Given the description of an element on the screen output the (x, y) to click on. 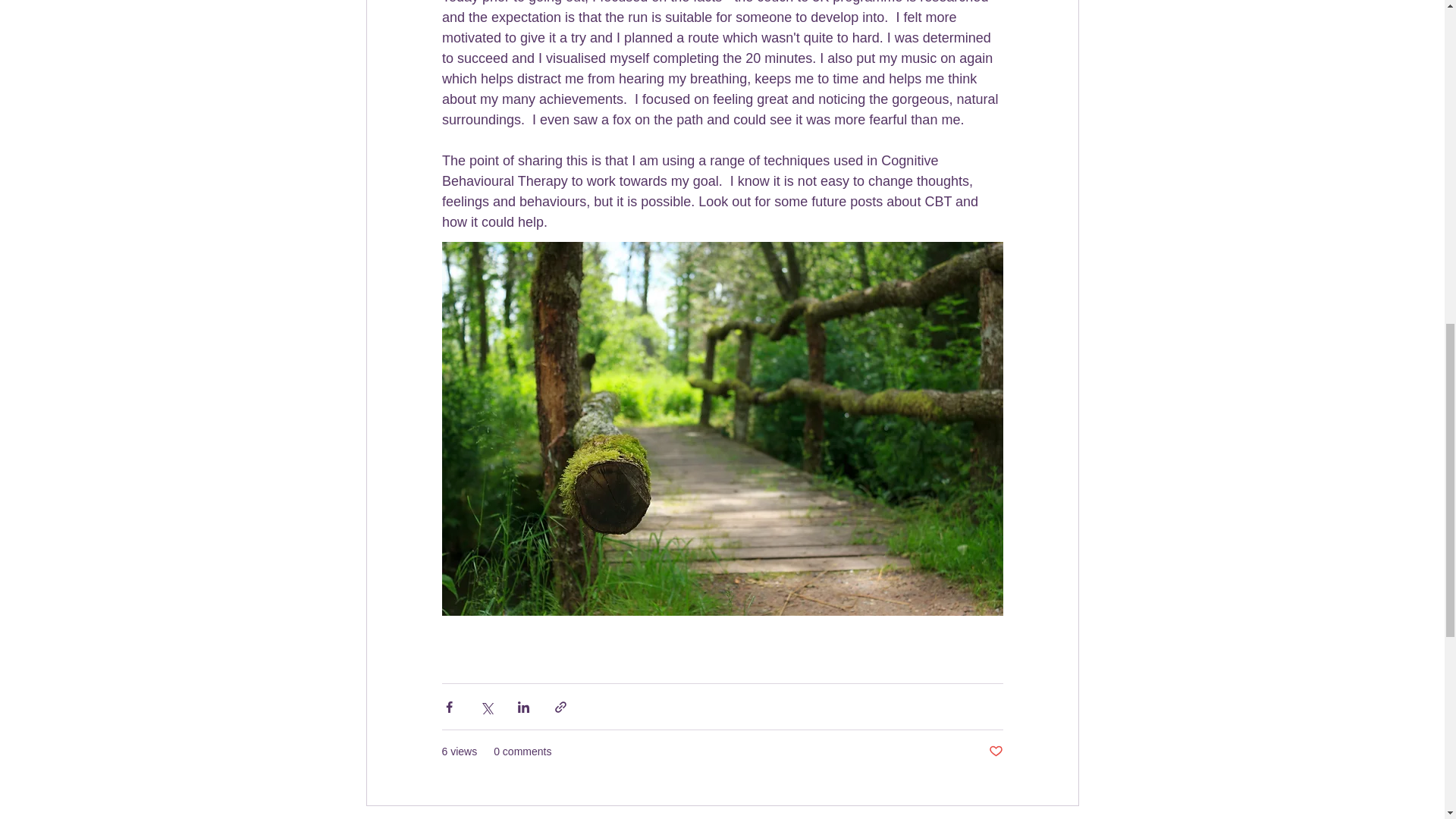
Post not marked as liked (995, 751)
